Given the description of an element on the screen output the (x, y) to click on. 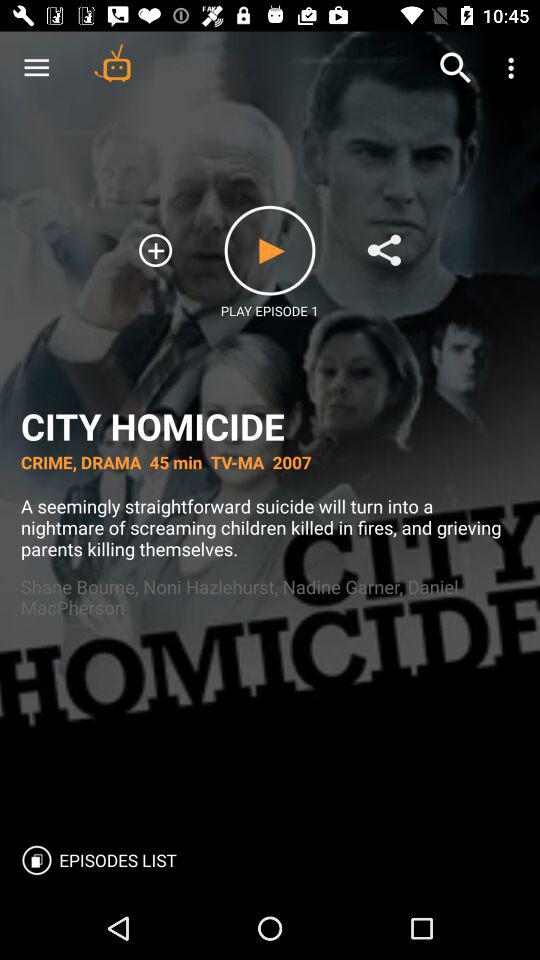
press icon above the city homicide icon (155, 250)
